Given the description of an element on the screen output the (x, y) to click on. 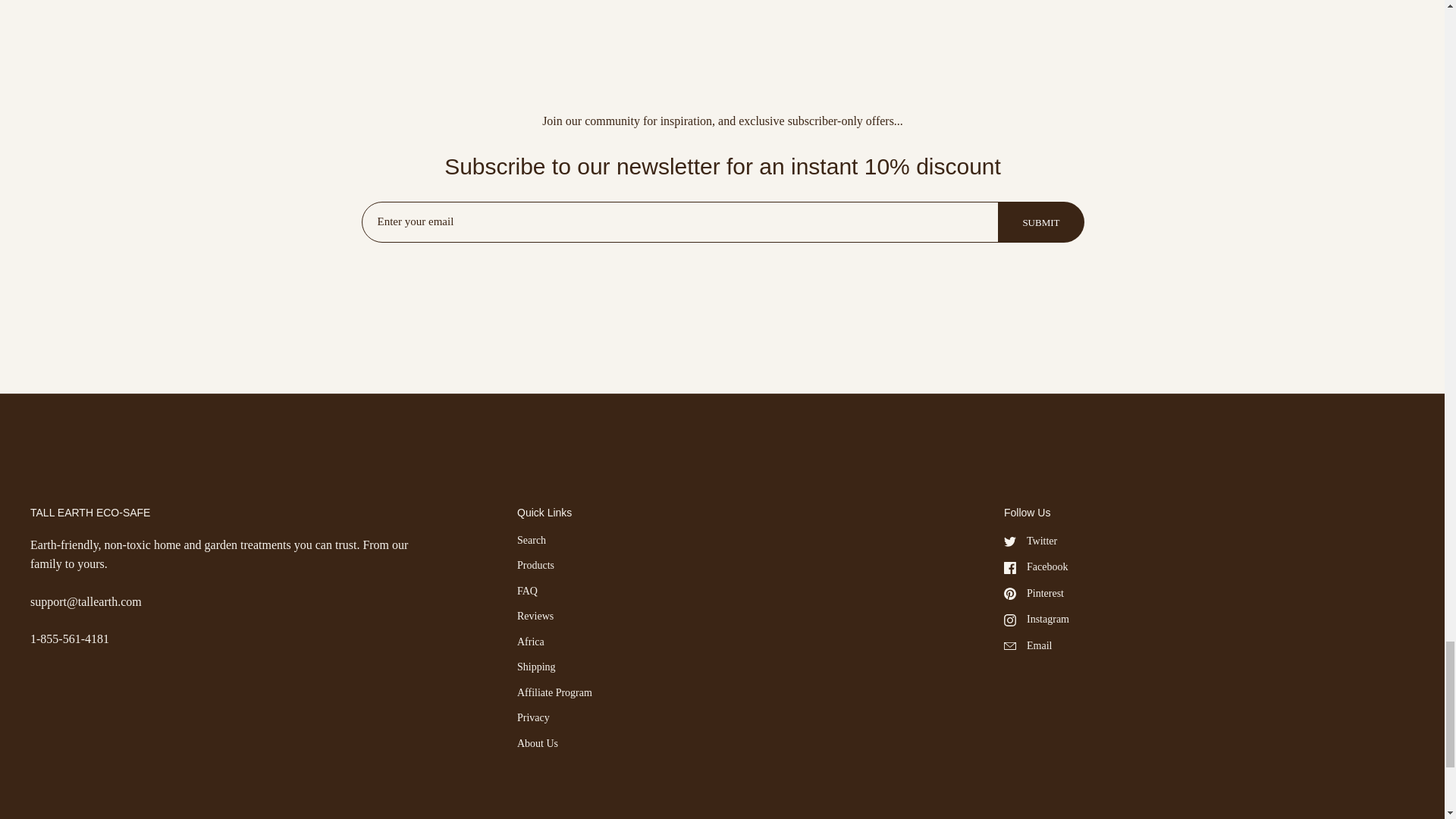
SUBMIT (1040, 222)
Search (531, 540)
Affiliate Program (554, 694)
FAQ (526, 591)
Africa (530, 643)
Privacy (533, 718)
About Us (536, 744)
SUBMIT (1040, 221)
Reviews (534, 617)
Products (535, 566)
